Given the description of an element on the screen output the (x, y) to click on. 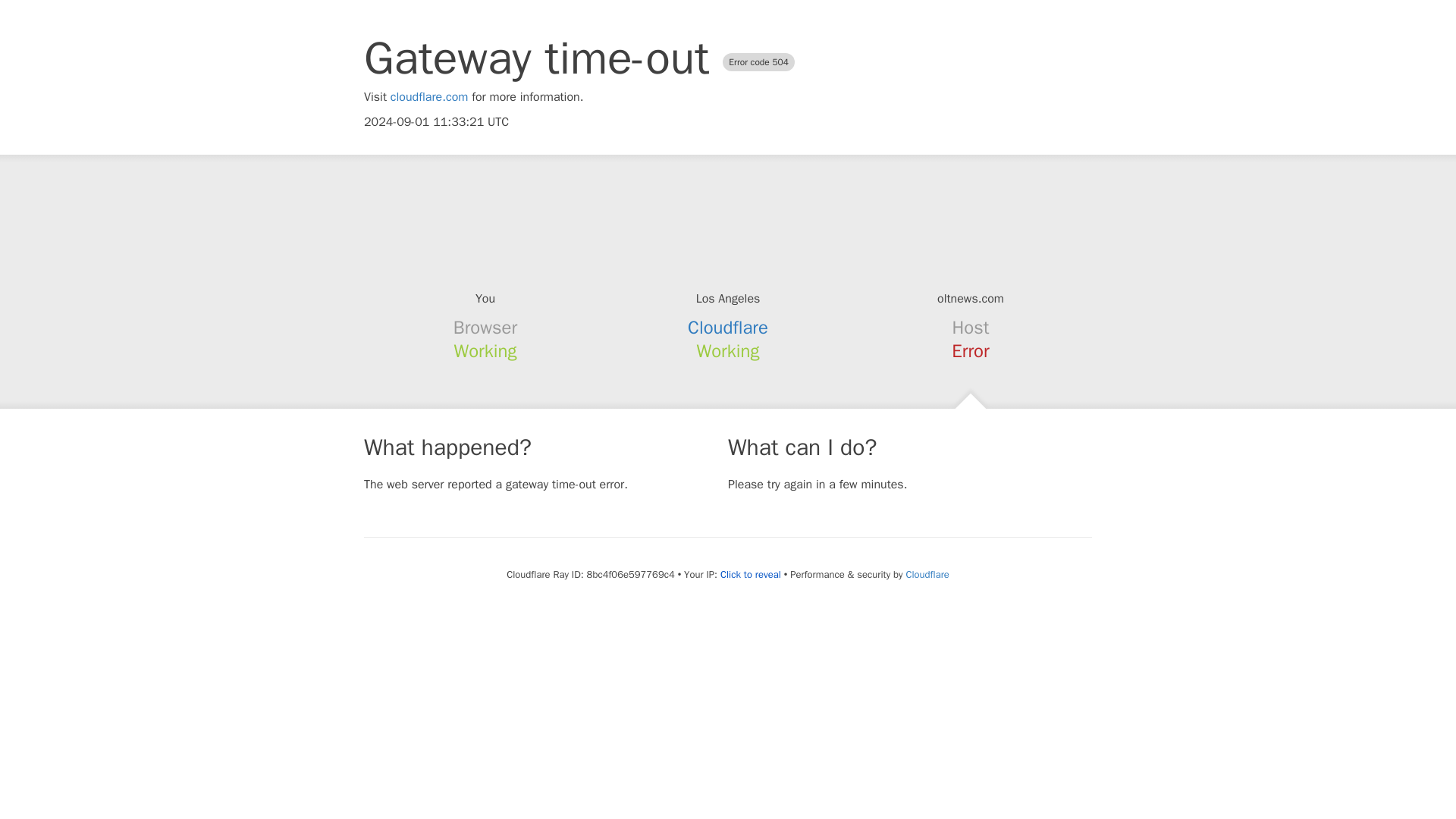
Click to reveal (750, 574)
Cloudflare (927, 574)
cloudflare.com (429, 96)
Cloudflare (727, 327)
